Given the description of an element on the screen output the (x, y) to click on. 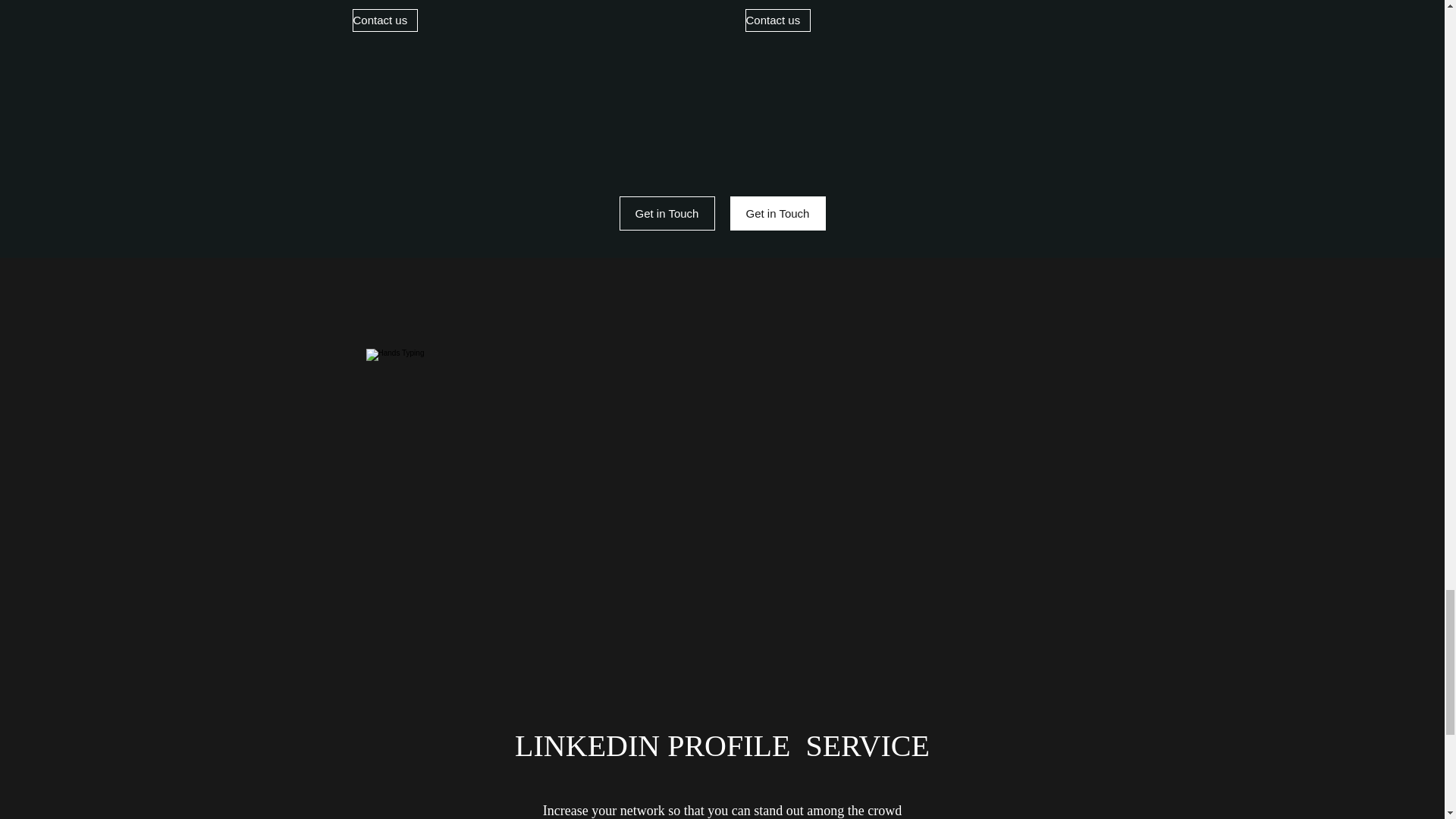
Get in Touch (666, 213)
Contact us (776, 20)
Contact us (384, 20)
